Given the description of an element on the screen output the (x, y) to click on. 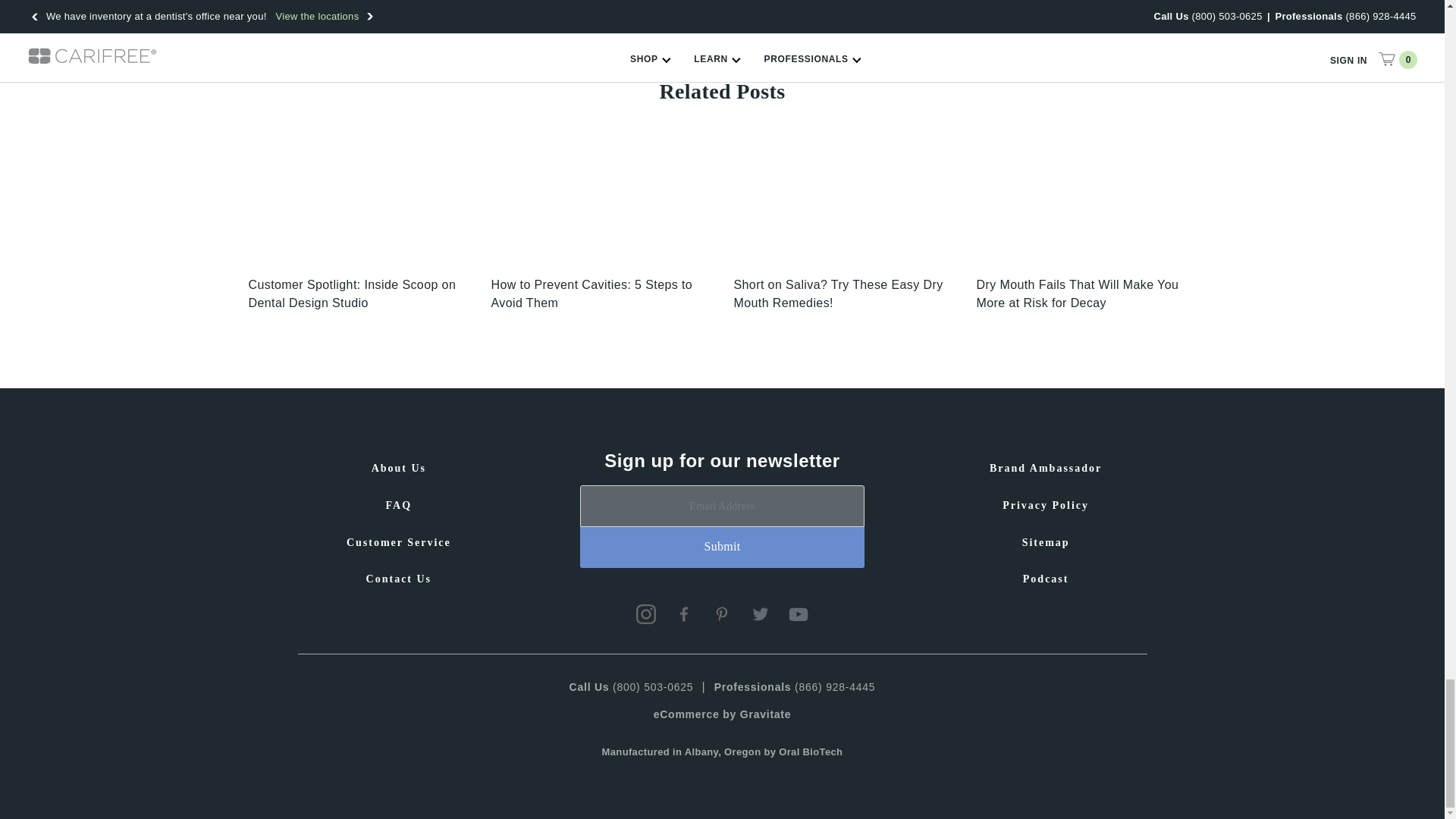
Instagram (646, 614)
facebook (684, 614)
mom-and-daughter-brushing-their-teeth. (601, 201)
Short on Saliva? Try These Easy Dry Mouth Remedies! (843, 201)
pinterest (721, 614)
youtube (798, 614)
Submit (721, 547)
twitter (760, 614)
Studio with lighting equipment (358, 201)
